Given the description of an element on the screen output the (x, y) to click on. 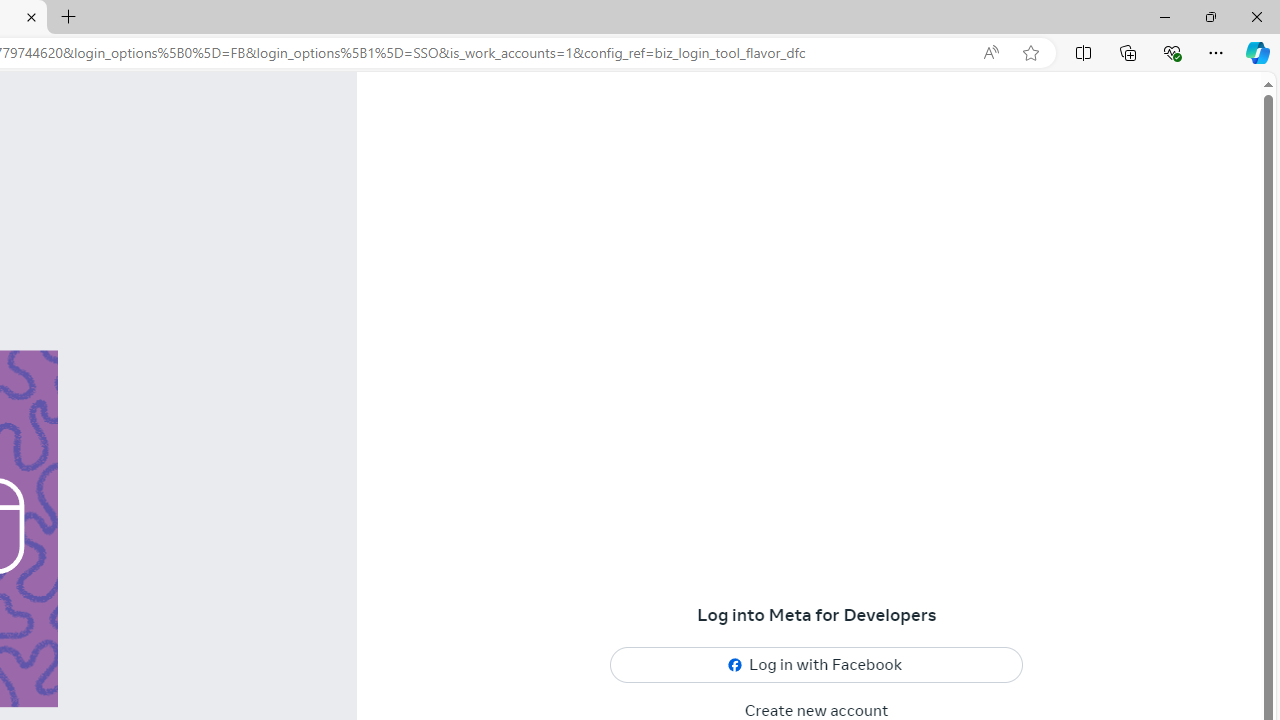
Log in with Facebook (817, 665)
